Given the description of an element on the screen output the (x, y) to click on. 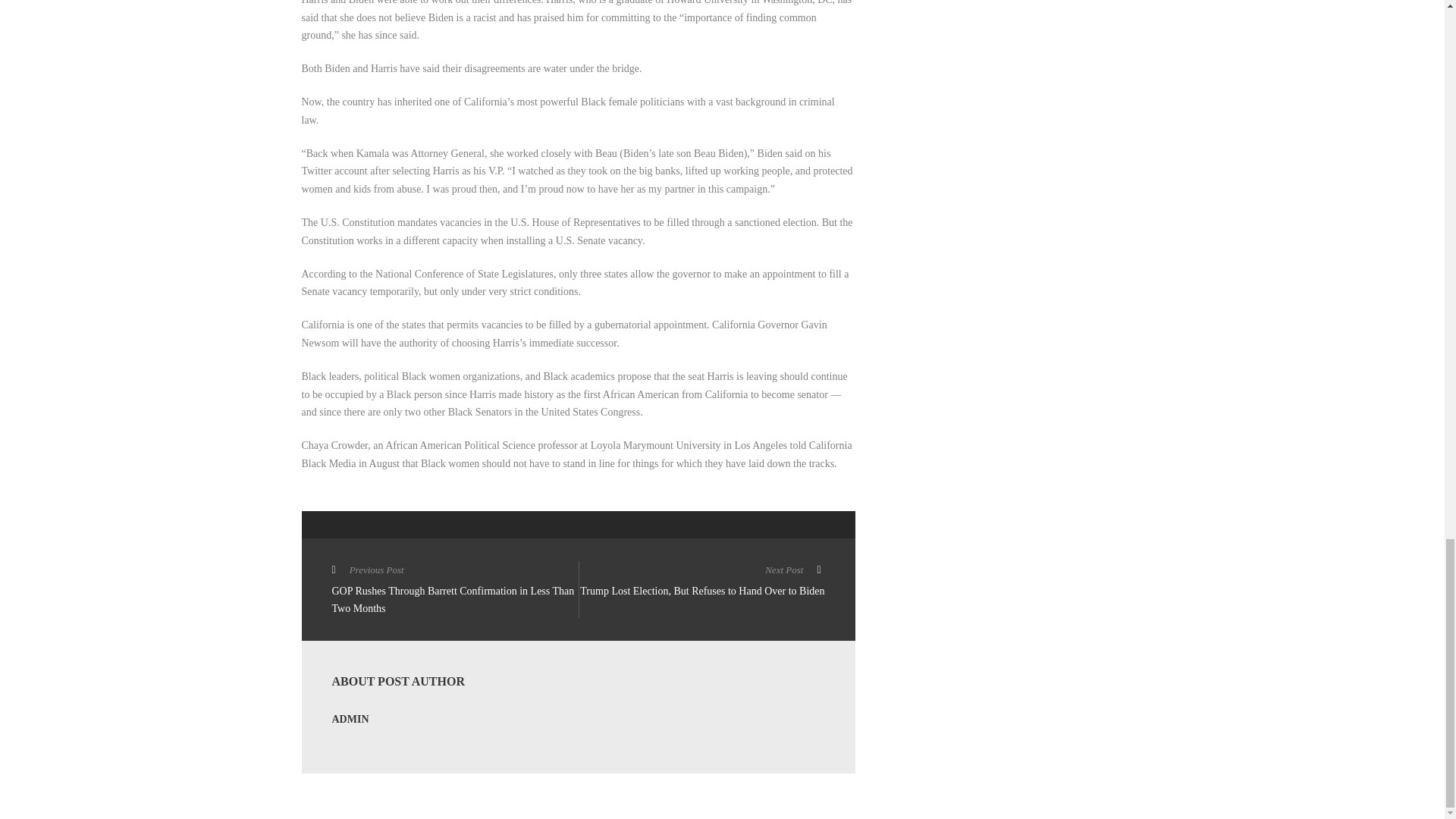
Posts by admin (350, 718)
ADMIN (350, 718)
